Given the description of an element on the screen output the (x, y) to click on. 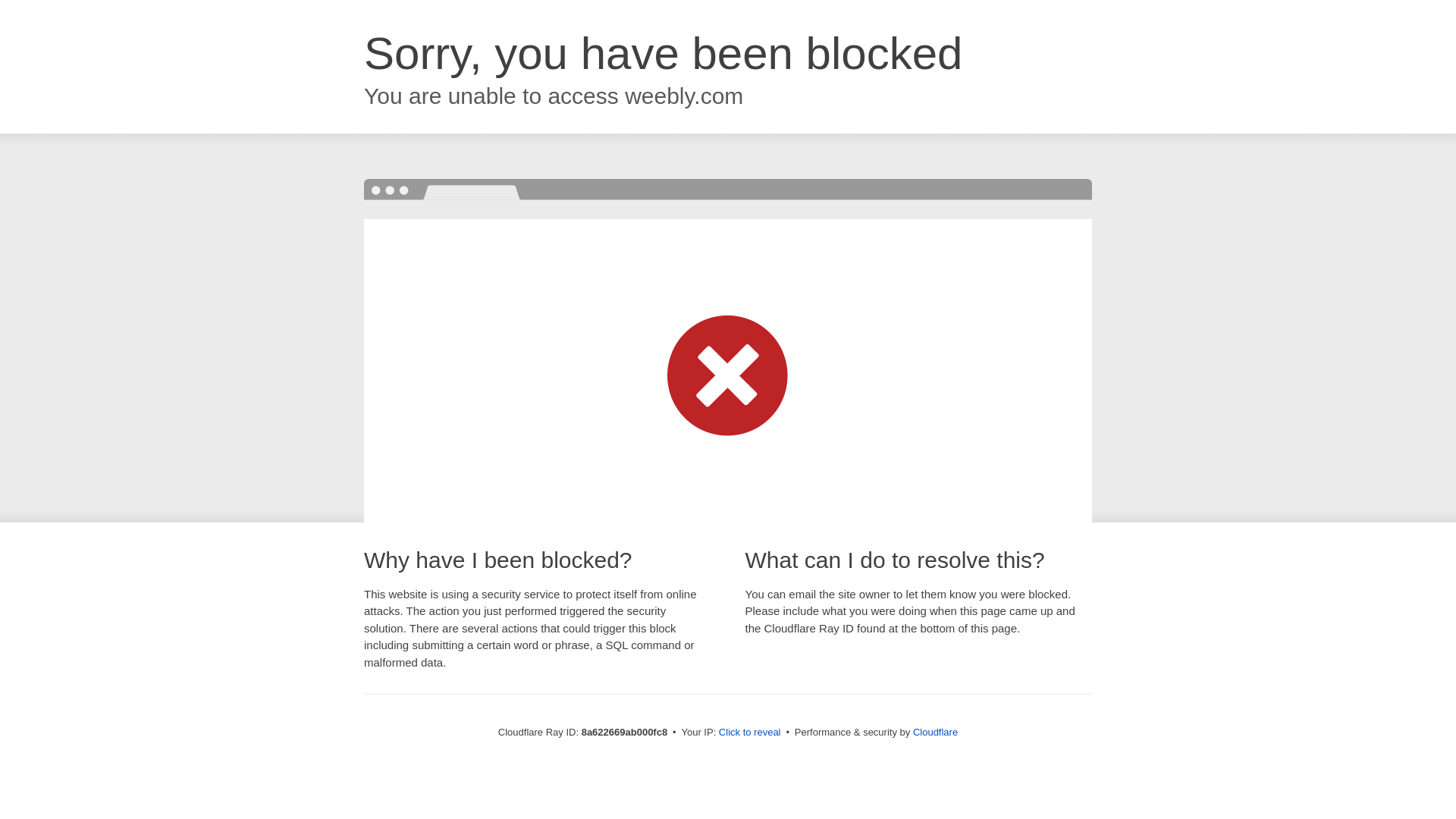
Click to reveal (749, 732)
Cloudflare (935, 731)
